Given the description of an element on the screen output the (x, y) to click on. 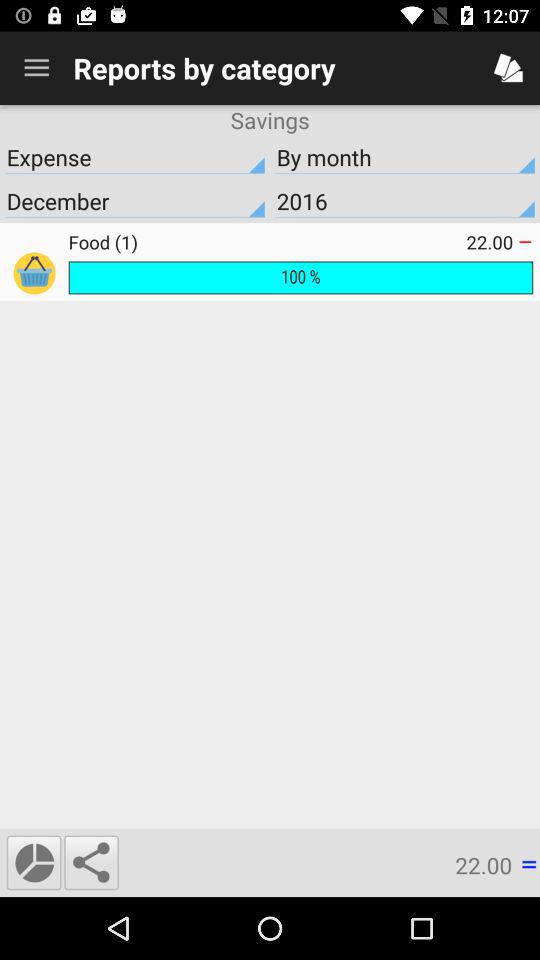
turn on item next to reports by category item (36, 68)
